Given the description of an element on the screen output the (x, y) to click on. 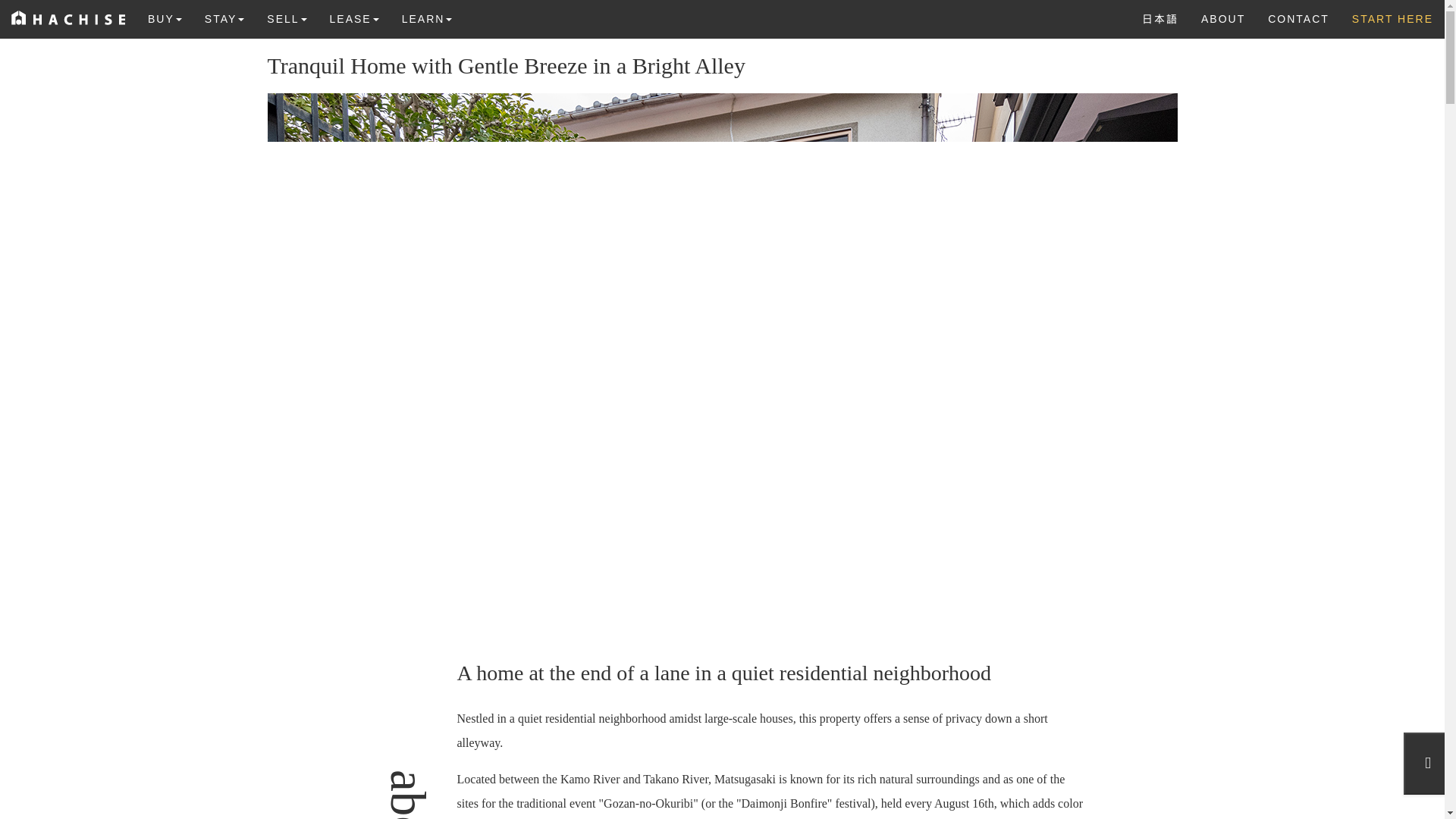
LEASE (354, 18)
ABOUT (1222, 18)
BUY (164, 18)
CONTACT (1298, 18)
STAY (224, 18)
LEARN (427, 18)
SELL (286, 18)
